Given the description of an element on the screen output the (x, y) to click on. 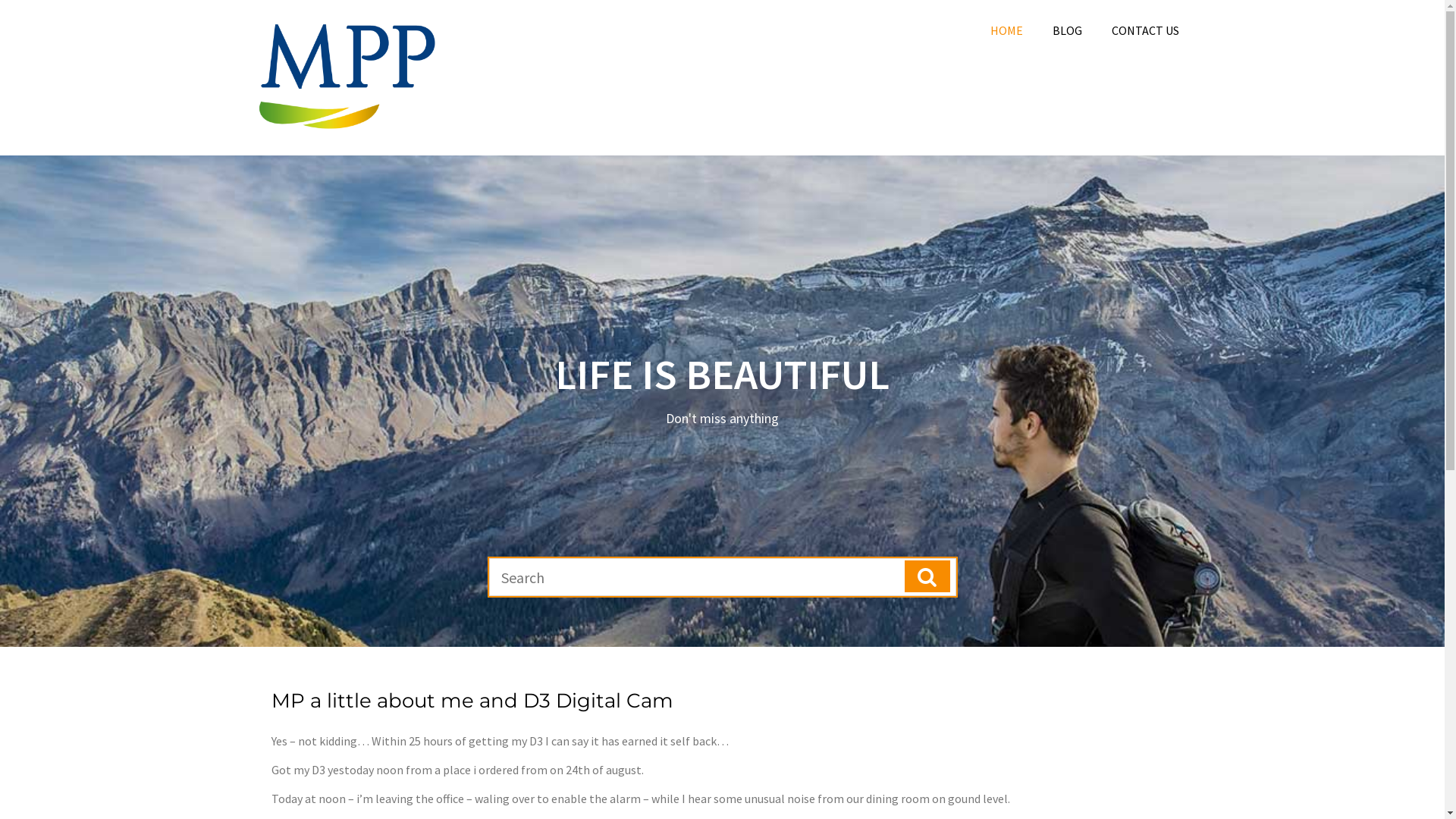
BLOG Element type: text (1066, 30)
HOME Element type: text (1006, 30)
CONTACT US Element type: text (1145, 30)
Skip to content Element type: text (0, 0)
